Given the description of an element on the screen output the (x, y) to click on. 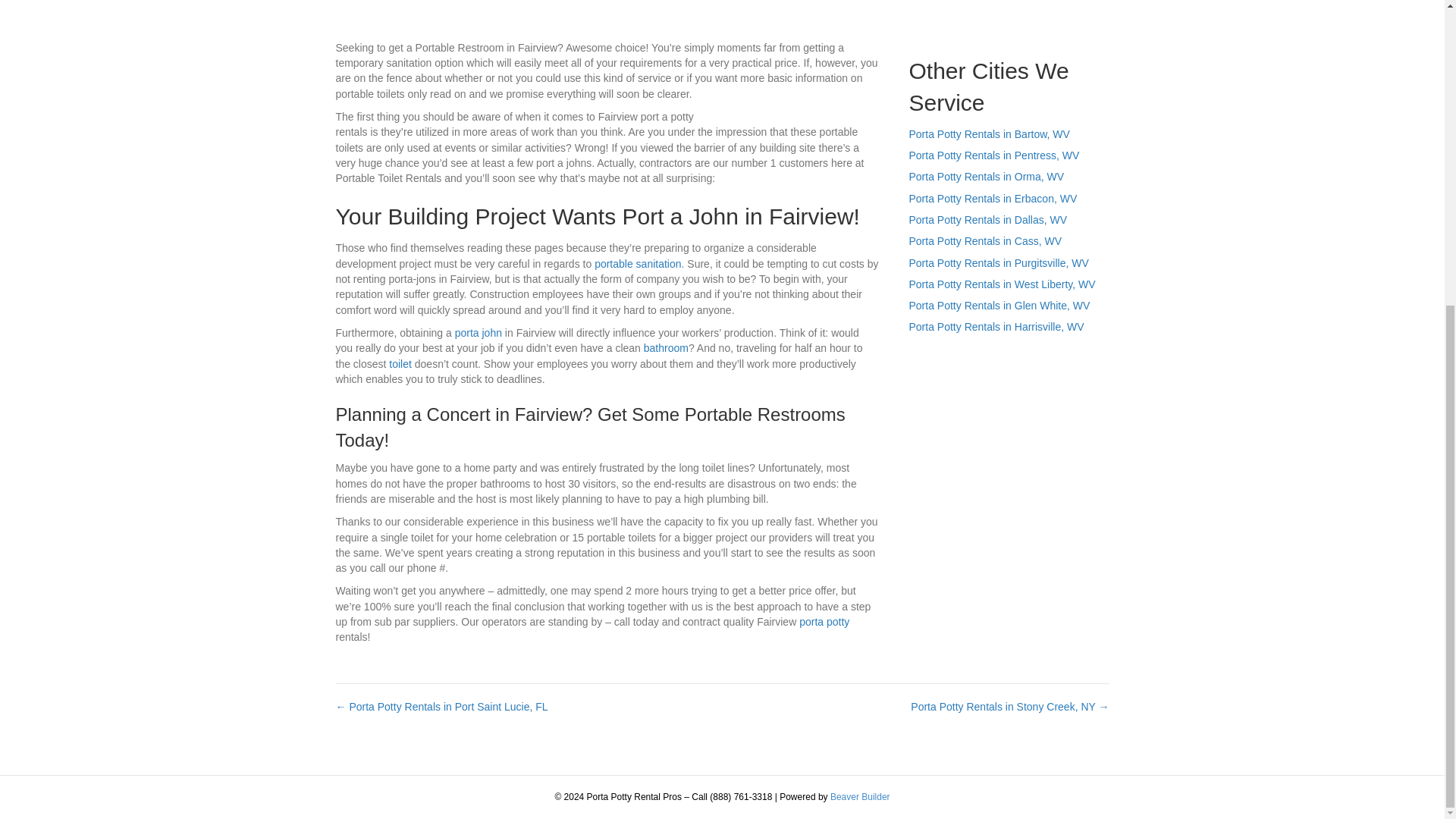
bathroom (665, 347)
Porta Potty Rentals in West Liberty, WV (1001, 284)
Porta Potty Rentals in Cass, WV (984, 241)
Porta Potty Rentals in Bartow, WV (988, 133)
Porta Potty Rentals in Bartow, WV (988, 133)
Porta Potty Rentals in Purgitsville, WV (997, 263)
Beaver Builder (859, 796)
porta potty (823, 621)
Porta Potty Rentals in Erbacon, WV (992, 198)
portable sanitation (637, 263)
